Given the description of an element on the screen output the (x, y) to click on. 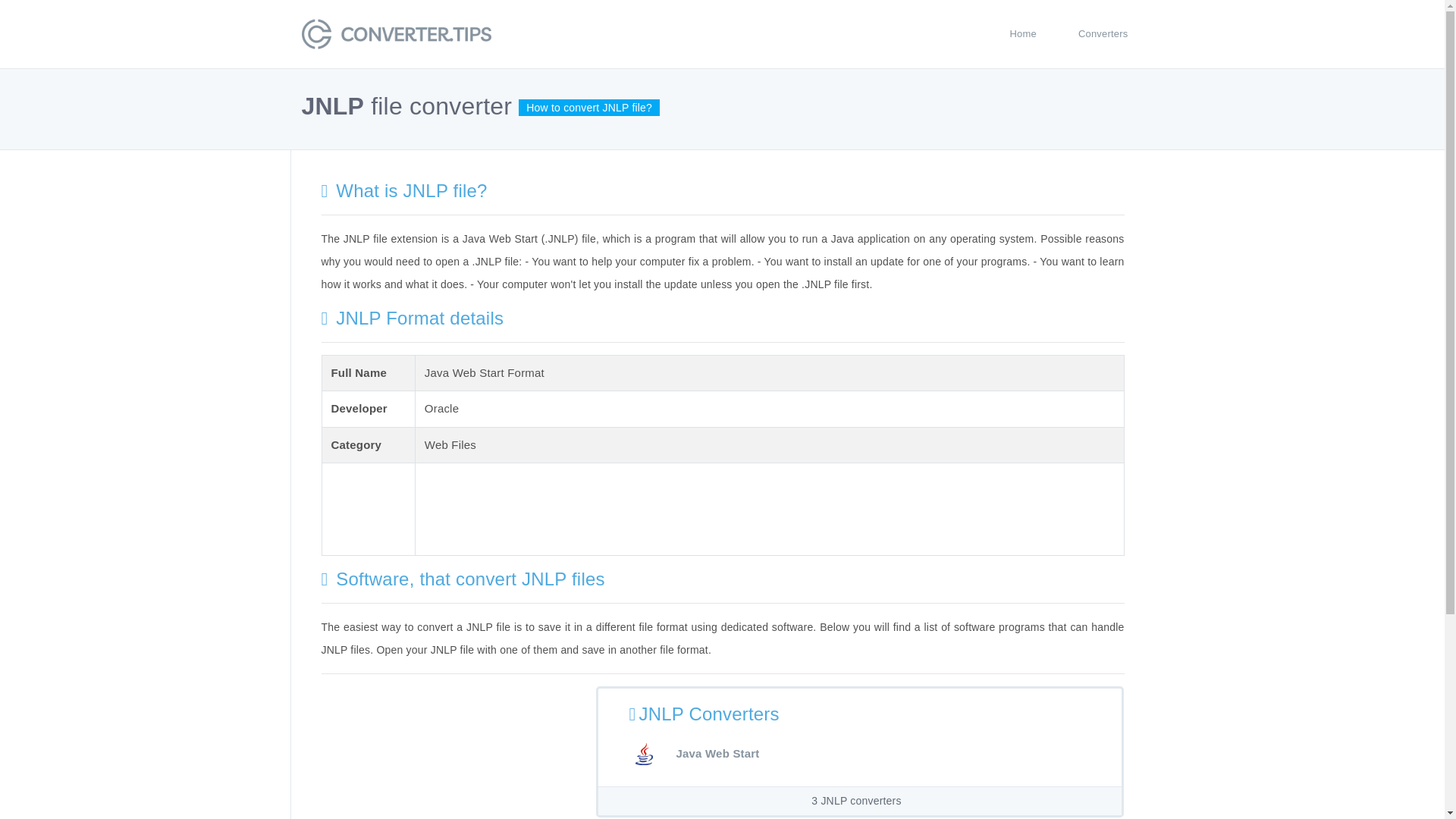
Converters (1102, 33)
Advertisement (448, 752)
Advertisement (700, 506)
